Given the description of an element on the screen output the (x, y) to click on. 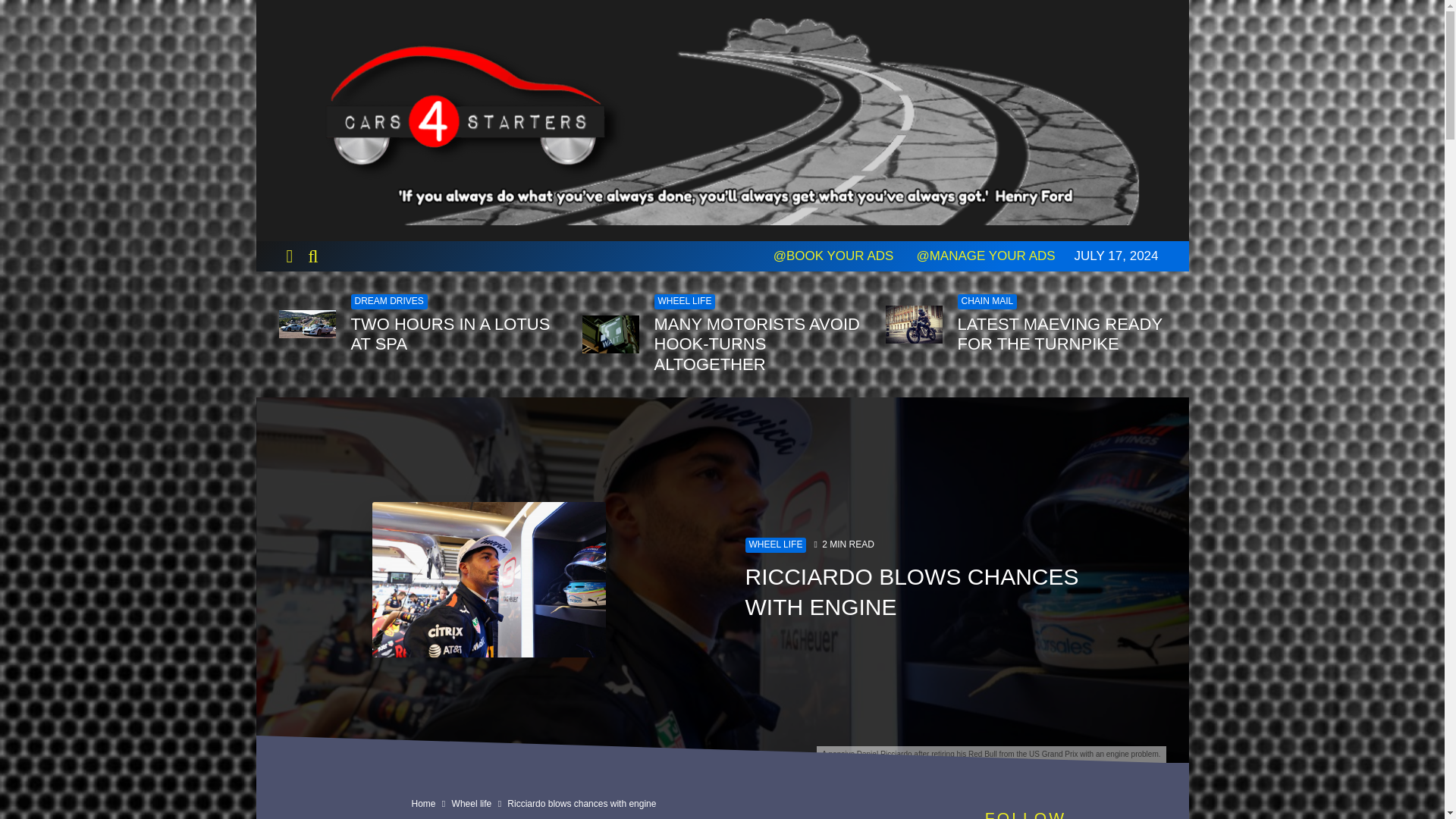
MANY MOTORISTS AVOID HOOK-TURNS ALTOGETHER (757, 344)
CHAIN MAIL (986, 301)
Home (422, 803)
Lotus-Exiges-parked-up-at-Raidillon-1 (307, 324)
Ricciardo blows chances with engine 7 (488, 579)
DREAM DRIVES (388, 301)
Wait-for-it (610, 333)
Wheel life (471, 803)
TWO HOURS IN A LOTUS AT SPA (454, 334)
WHEEL LIFE (683, 301)
WHEEL LIFE (775, 544)
LATEST MAEVING READY FOR THE TURNPIKE (1061, 334)
